Given the description of an element on the screen output the (x, y) to click on. 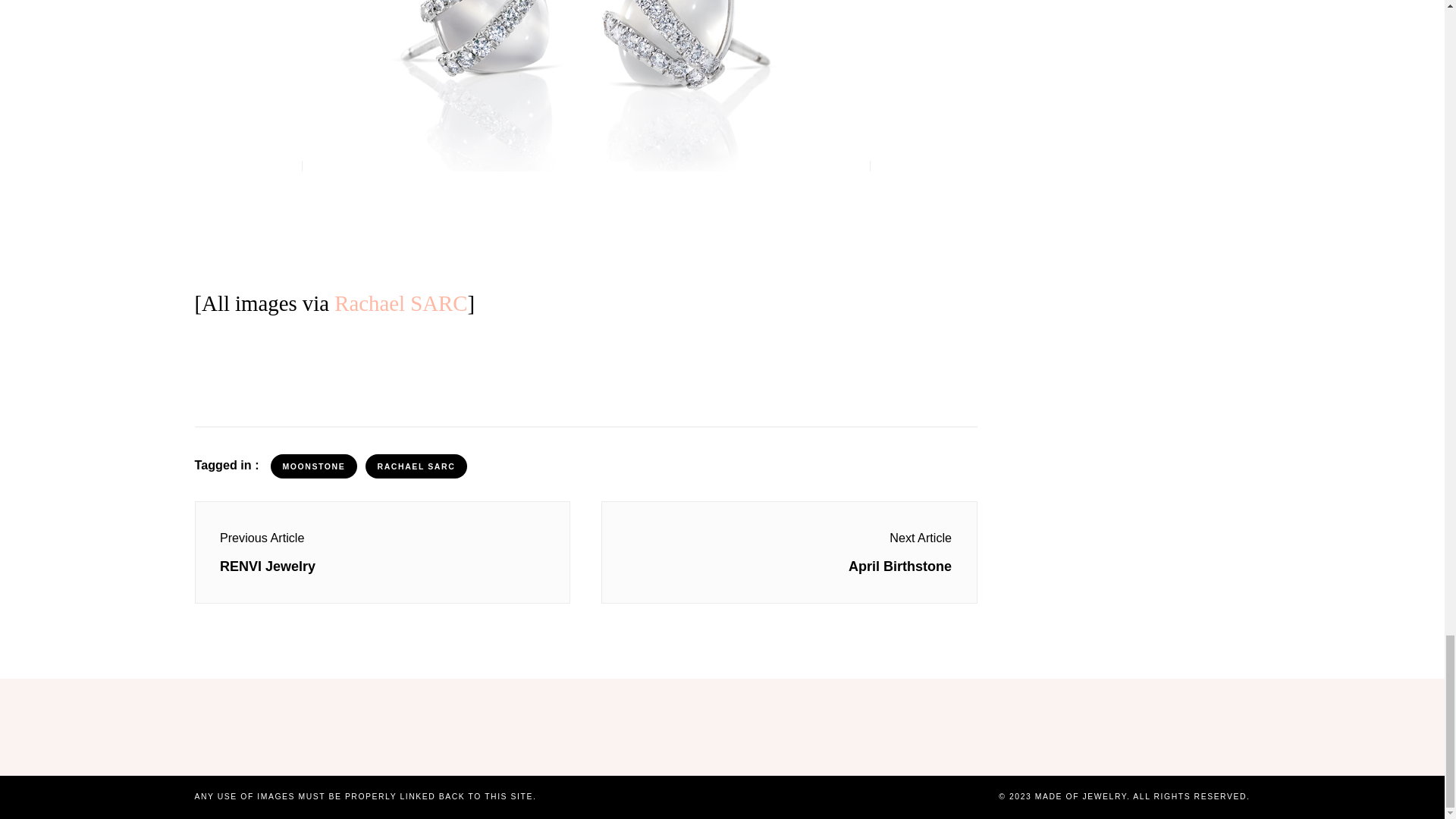
RACHAEL SARC (416, 466)
Rachael SARC (400, 303)
MOONSTONE (314, 466)
